Given the description of an element on the screen output the (x, y) to click on. 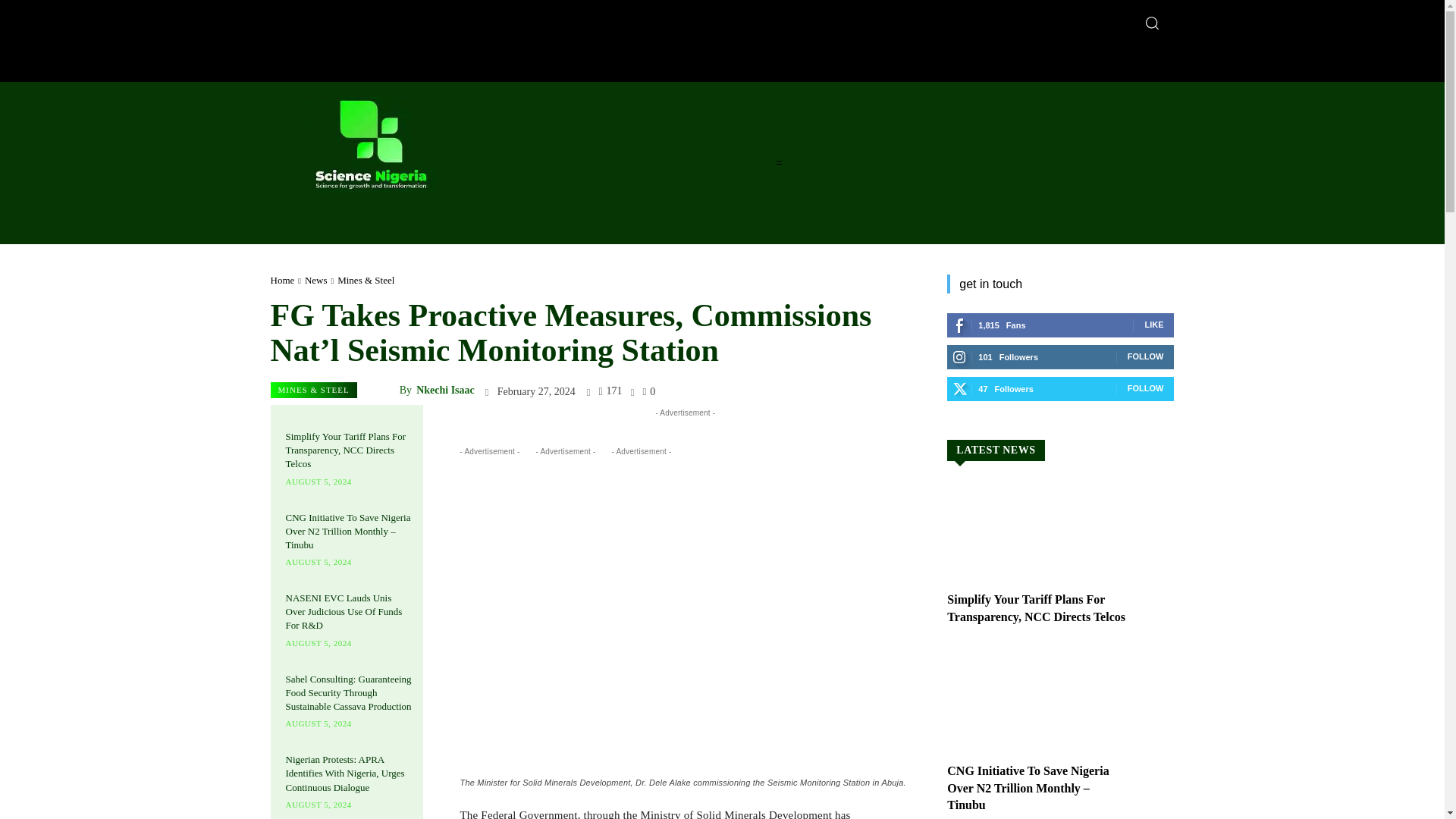
View all posts in News (315, 279)
Nkechi Isaac (385, 390)
